Given the description of an element on the screen output the (x, y) to click on. 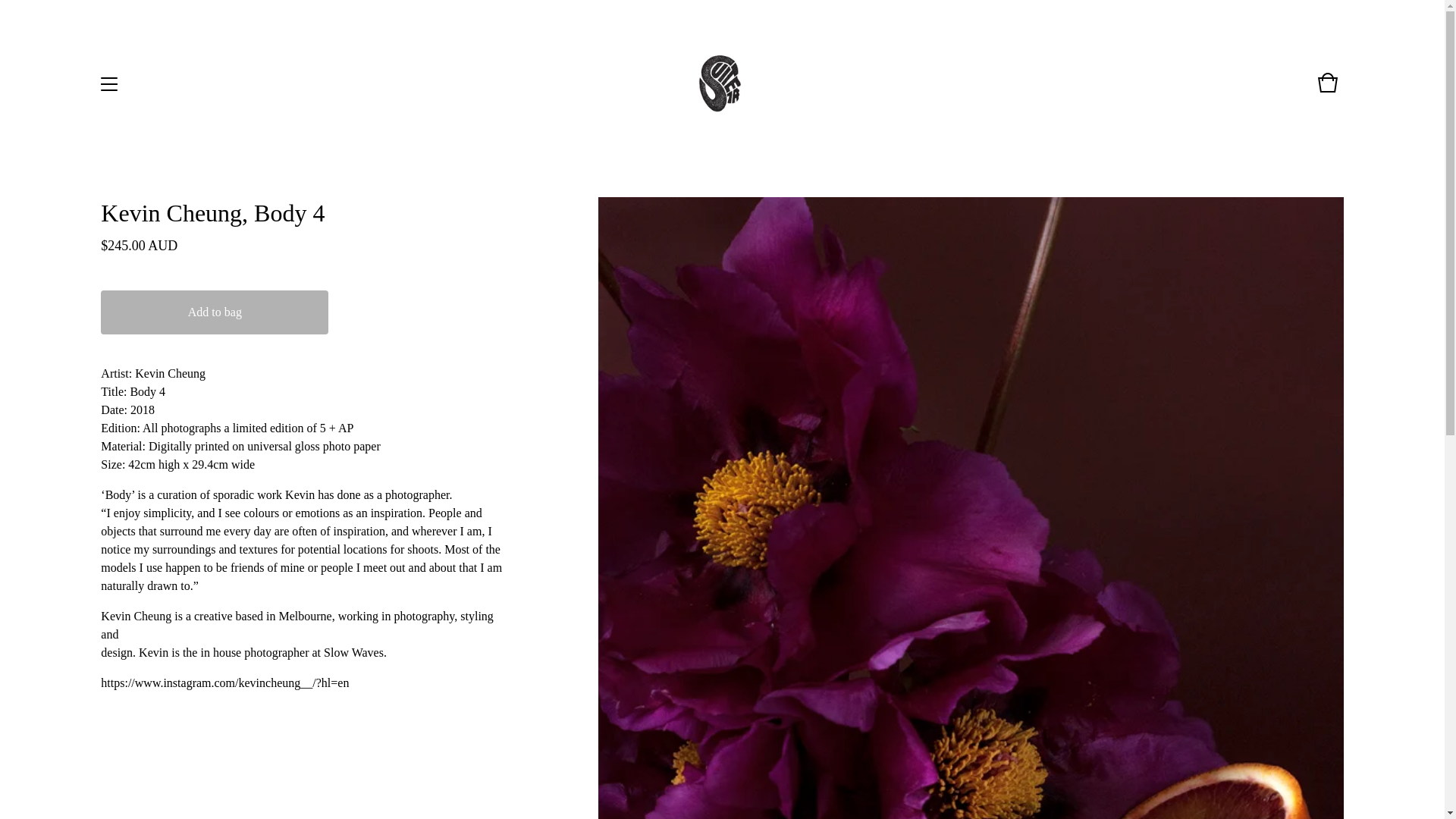
Add to bag (214, 312)
Cart (1327, 89)
Add to bag (214, 312)
